Given the description of an element on the screen output the (x, y) to click on. 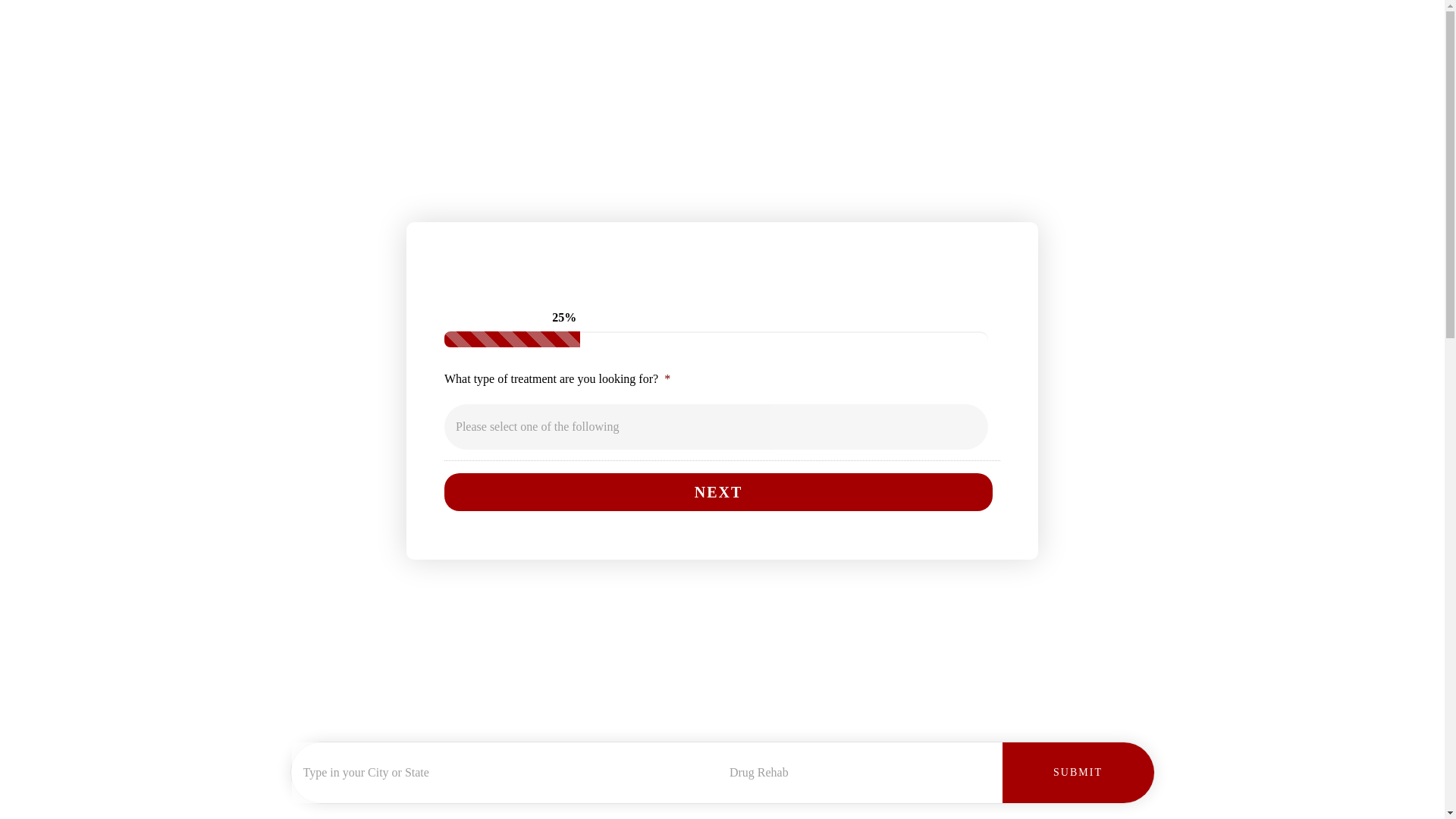
Submit (1078, 772)
Submit (1078, 772)
Next (718, 492)
